Given the description of an element on the screen output the (x, y) to click on. 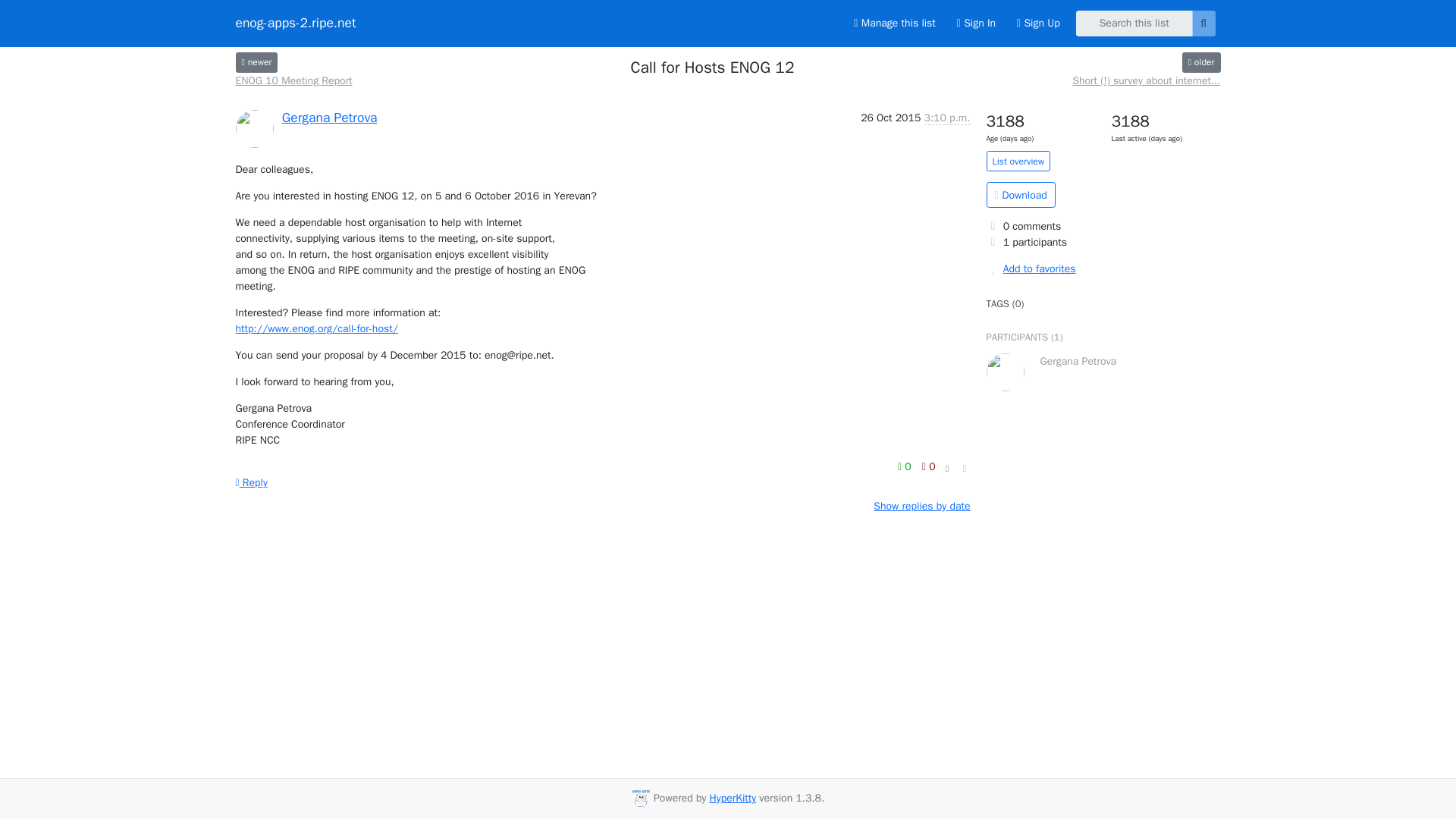
You must be logged-in to have favorites. (1102, 268)
Reply (250, 481)
HyperKitty (733, 797)
This thread in gzipped mbox format (1020, 194)
newer (256, 61)
ENOG 10 Meeting Report (293, 80)
ENOG 10 Meeting Report (293, 80)
Sign In (976, 22)
Sign in to reply online (250, 481)
Permalink for this message (965, 468)
Add to favorites (1102, 268)
Gergana Petrova (329, 117)
older (1201, 61)
See the profile for Gergana Petrova (329, 117)
ENOG 10 Meeting Report (256, 61)
